Given the description of an element on the screen output the (x, y) to click on. 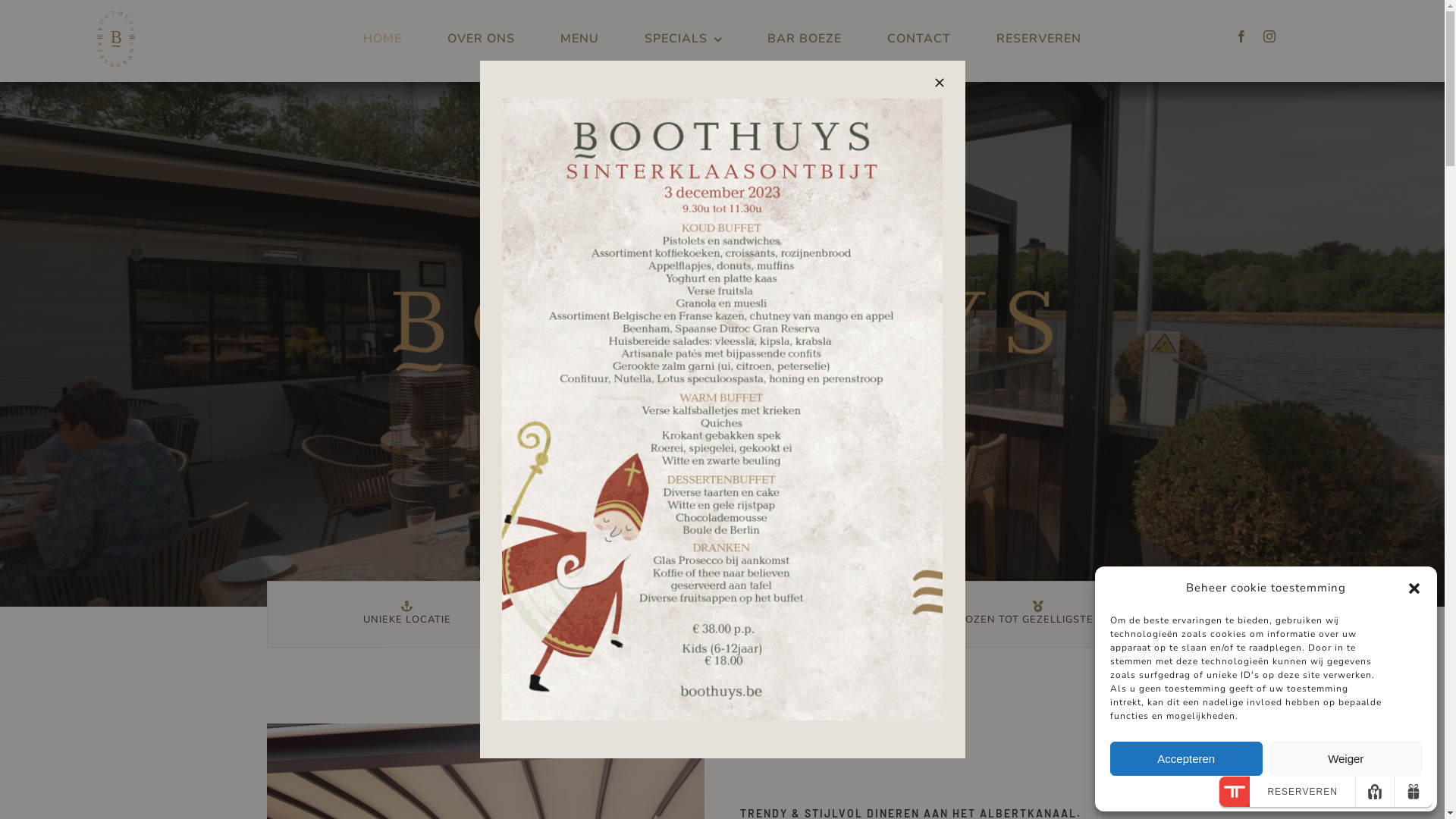
HOME Element type: text (382, 39)
OVER ONS Element type: text (480, 39)
SINTERKLAASONTBIJT_3 Element type: hover (721, 409)
Weiger Element type: text (1345, 758)
Cookiebeleid Element type: text (1265, 791)
MENU Element type: text (579, 39)
RESERVEER NU Element type: text (722, 418)
SPECIALS Element type: text (682, 39)
CONTACT Element type: text (918, 39)
BAR BOEZE Element type: text (804, 39)
RESERVEREN Element type: text (1038, 39)
Instagram Element type: hover (1269, 36)
Accepteren Element type: text (1186, 758)
Facebook Element type: hover (1241, 36)
